Given the description of an element on the screen output the (x, y) to click on. 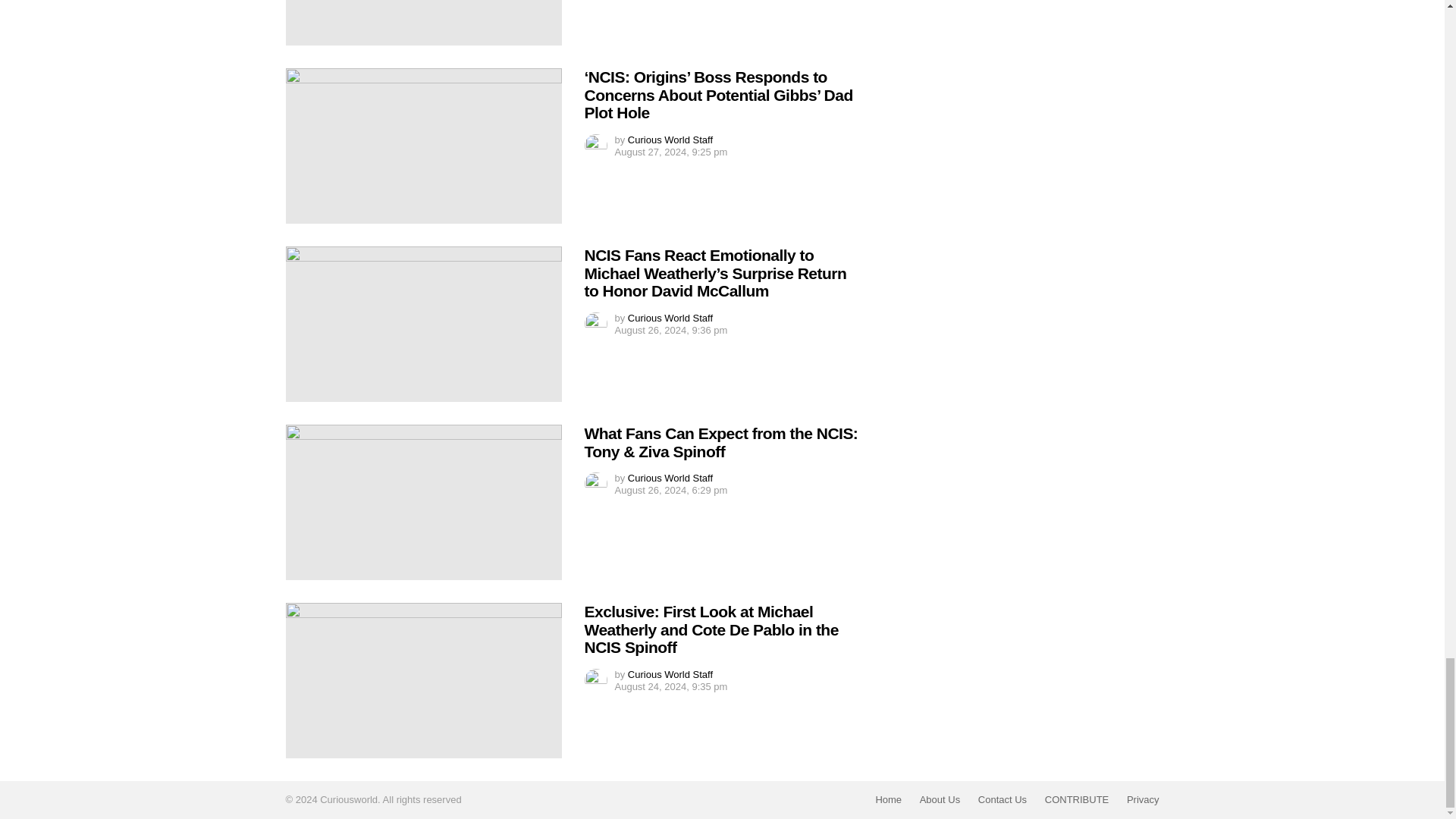
Posts by Curious World Staff (670, 317)
Posts by Curious World Staff (670, 478)
Posts by Curious World Staff (670, 139)
